Given the description of an element on the screen output the (x, y) to click on. 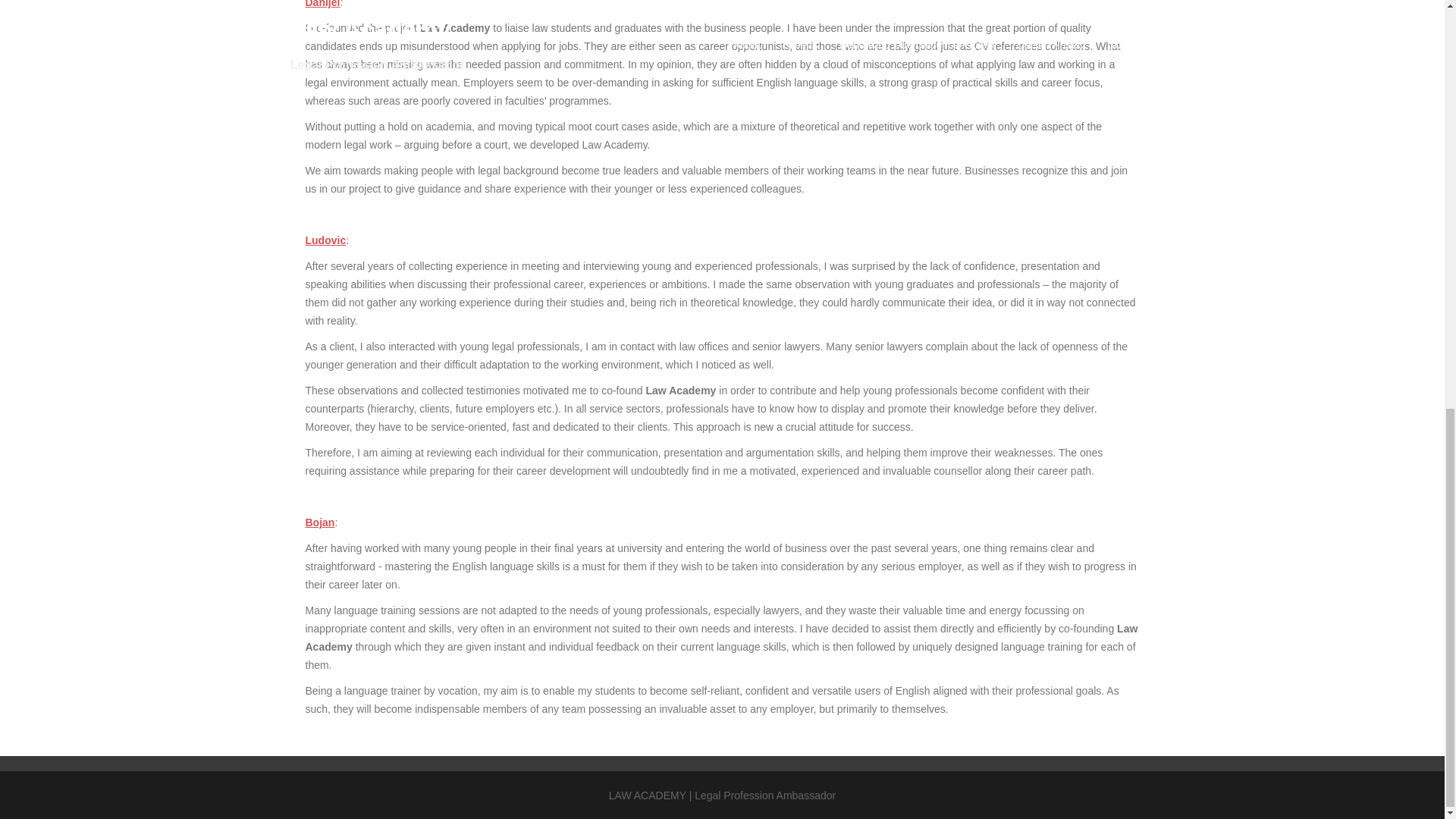
Bojan (319, 522)
LAW ACADEMY (646, 795)
Danijel (321, 4)
Ludovic (325, 240)
